Given the description of an element on the screen output the (x, y) to click on. 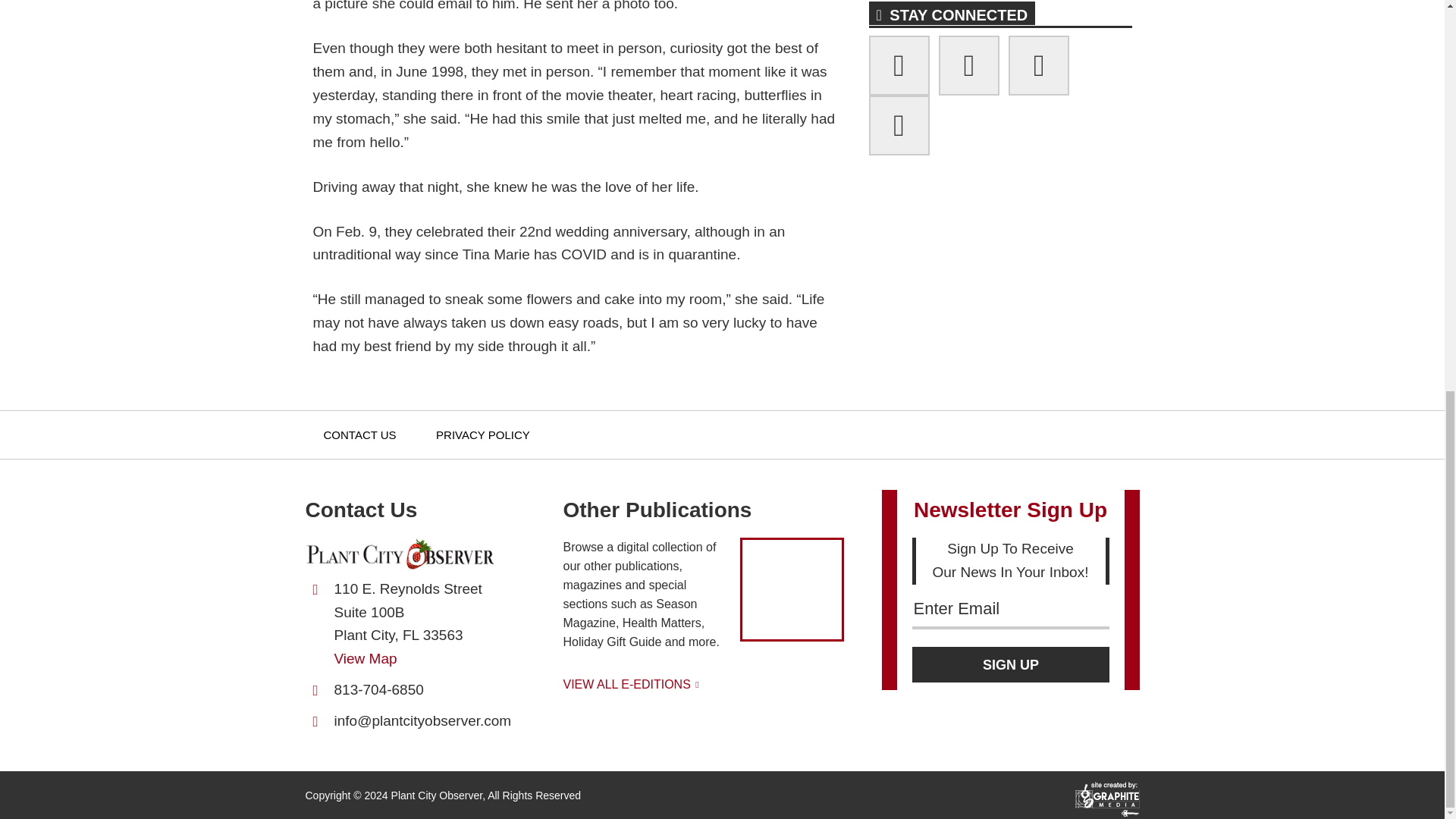
website design (1107, 804)
